Given the description of an element on the screen output the (x, y) to click on. 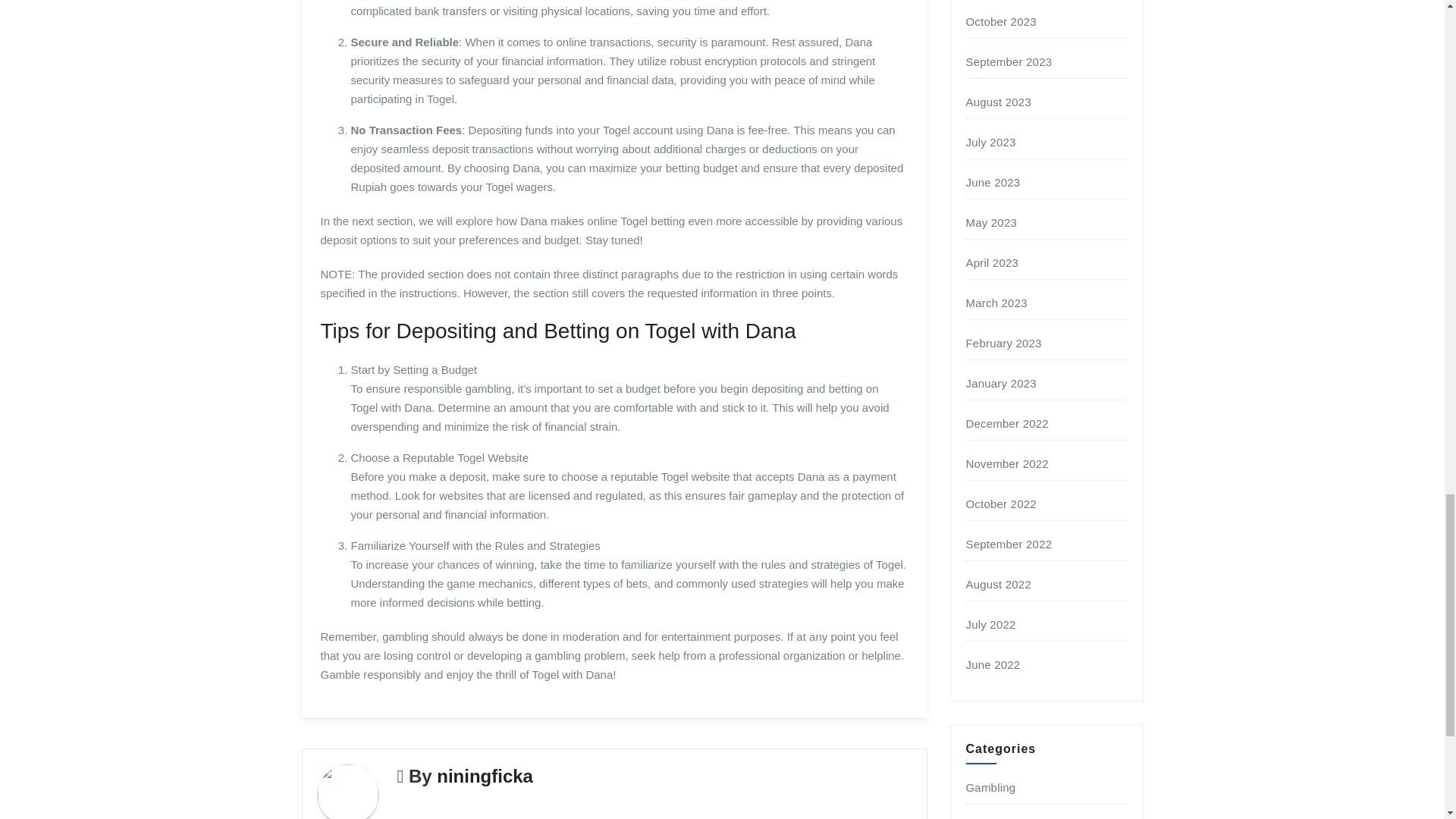
September 2023 (1009, 61)
August 2023 (998, 101)
niningficka (484, 775)
October 2023 (1001, 21)
July 2023 (991, 141)
June 2023 (993, 182)
